Given the description of an element on the screen output the (x, y) to click on. 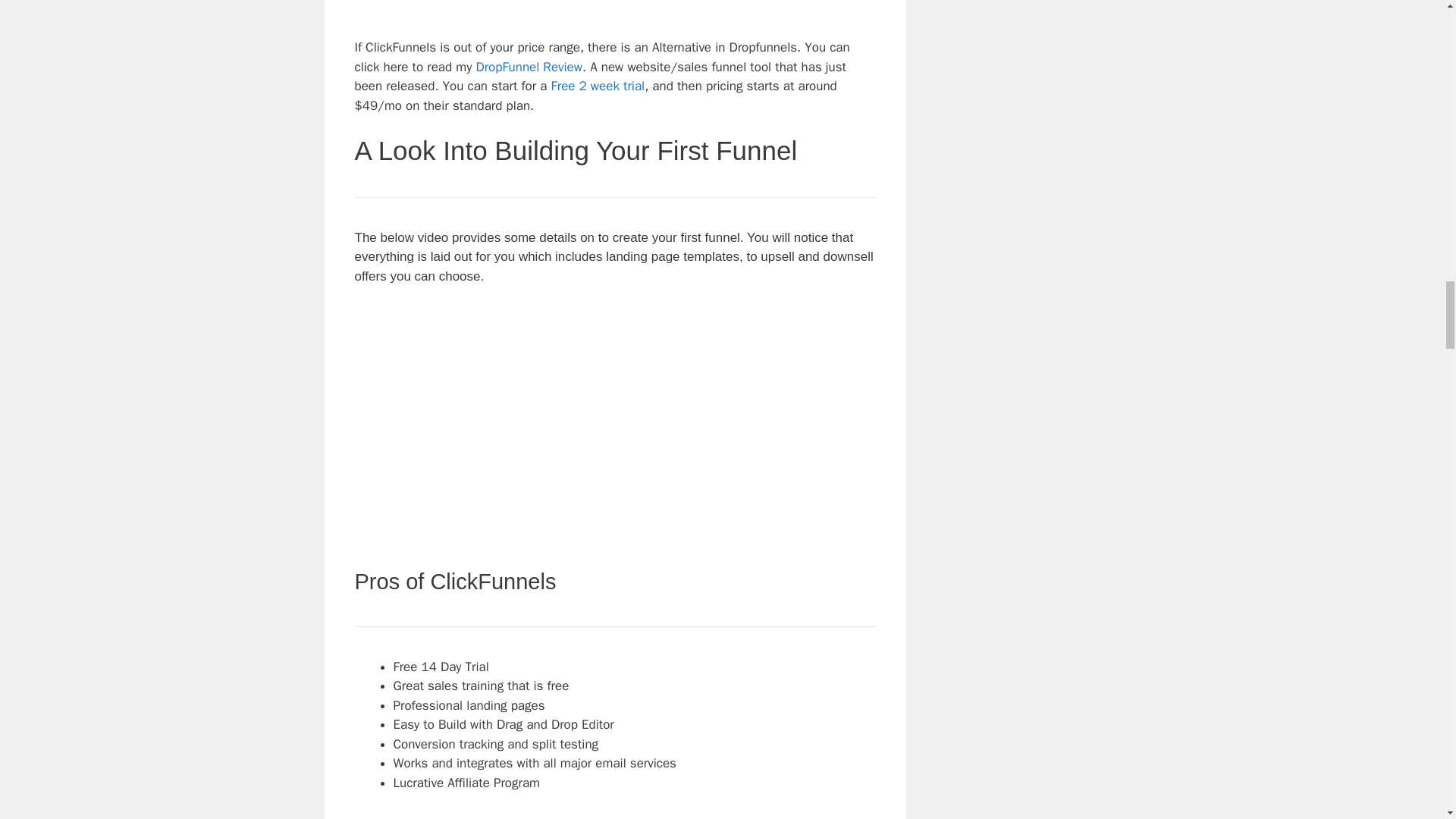
Free 2 week trial (598, 85)
DropFunnel Review (529, 66)
